Given the description of an element on the screen output the (x, y) to click on. 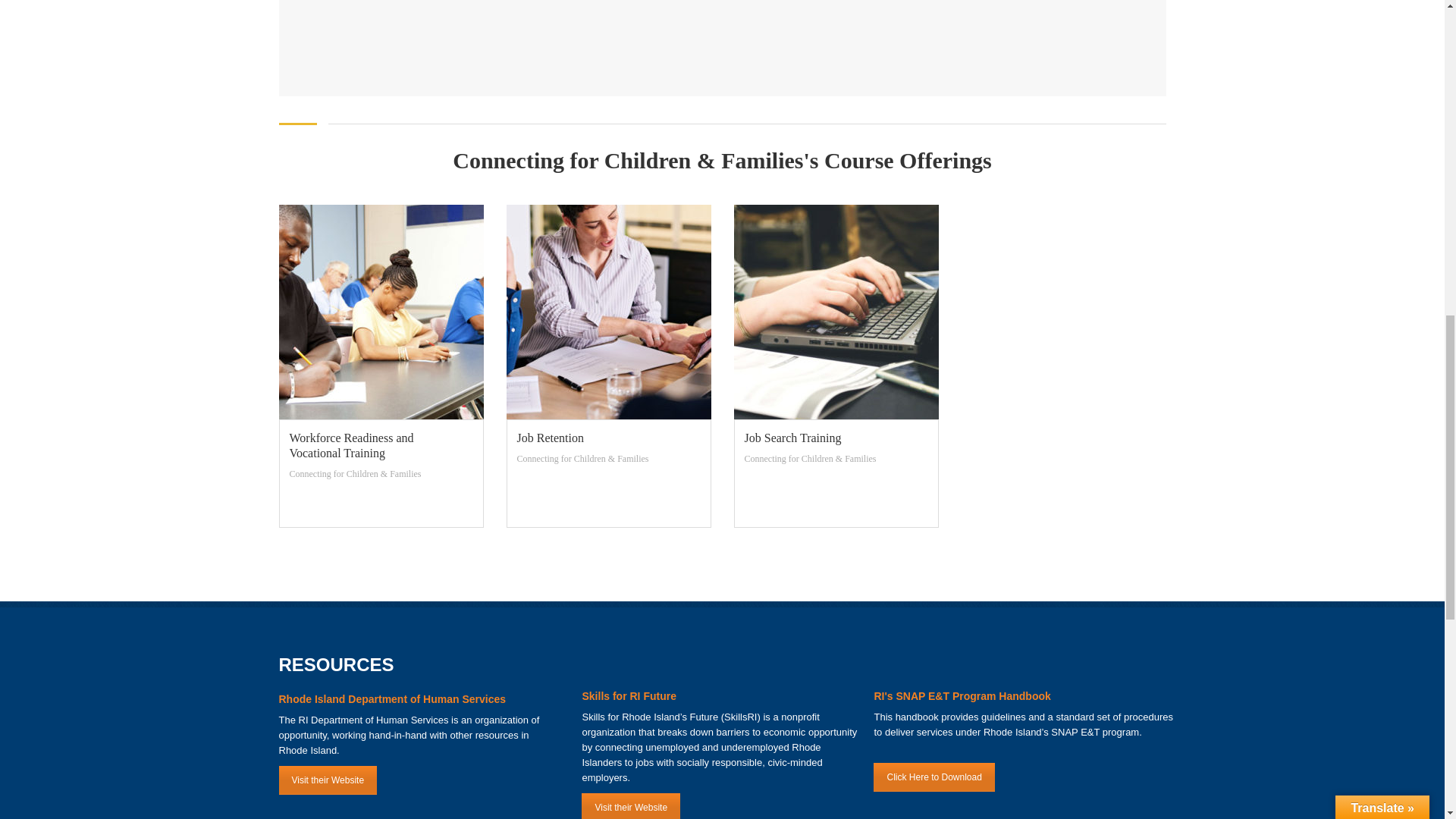
View course - Workforce Readiness and Vocational Training (381, 445)
View course - Job Search Training (836, 437)
View course - Job Retention (608, 311)
View course - Job Search Training (836, 311)
View course - Workforce Readiness and Vocational Training (381, 311)
View course - Job Retention (608, 437)
